Given the description of an element on the screen output the (x, y) to click on. 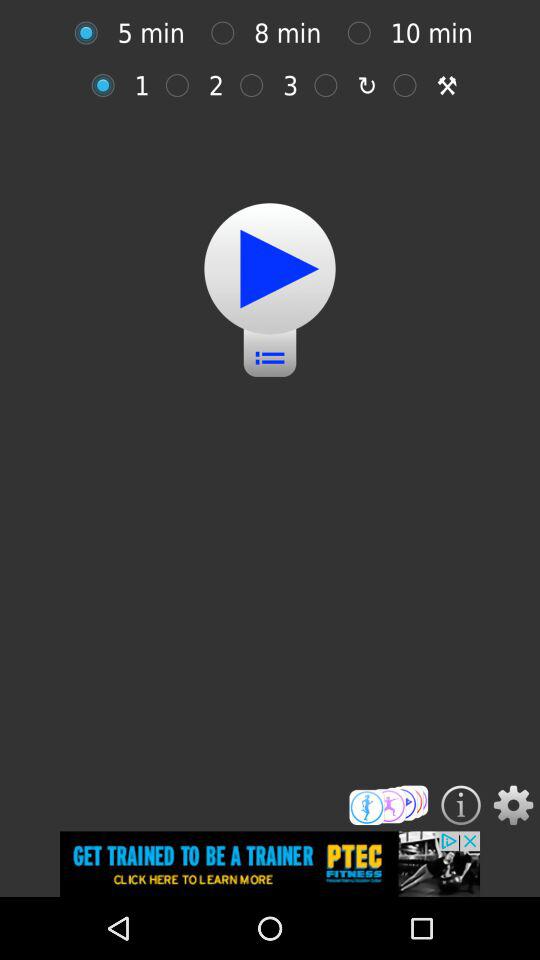
go to advertised company (270, 864)
